Given the description of an element on the screen output the (x, y) to click on. 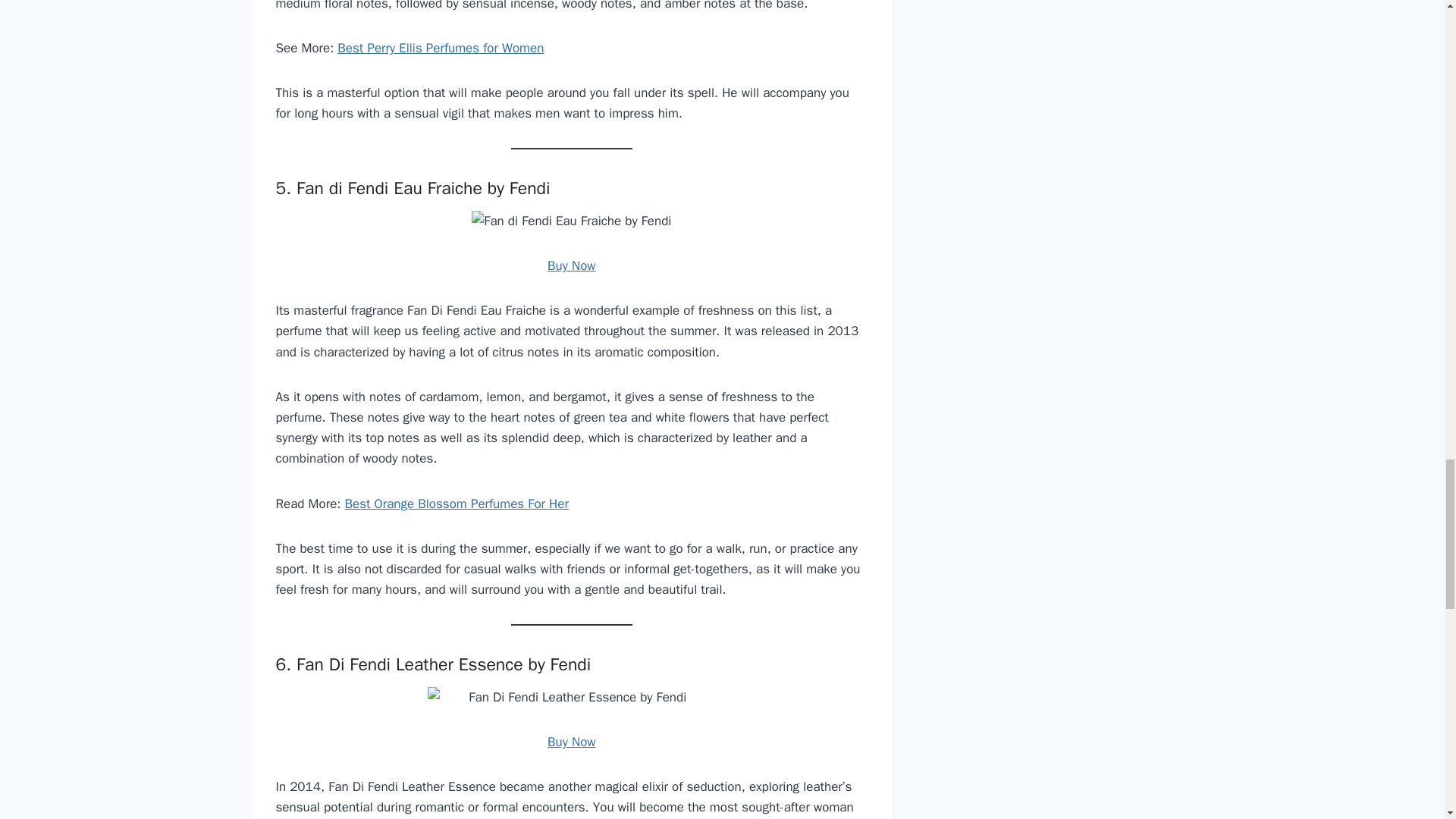
Best Perry Ellis Perfumes for Women (440, 48)
Best Orange Blossom Perfumes For Her (455, 503)
Buy Now (571, 741)
Buy Now (571, 265)
